Given the description of an element on the screen output the (x, y) to click on. 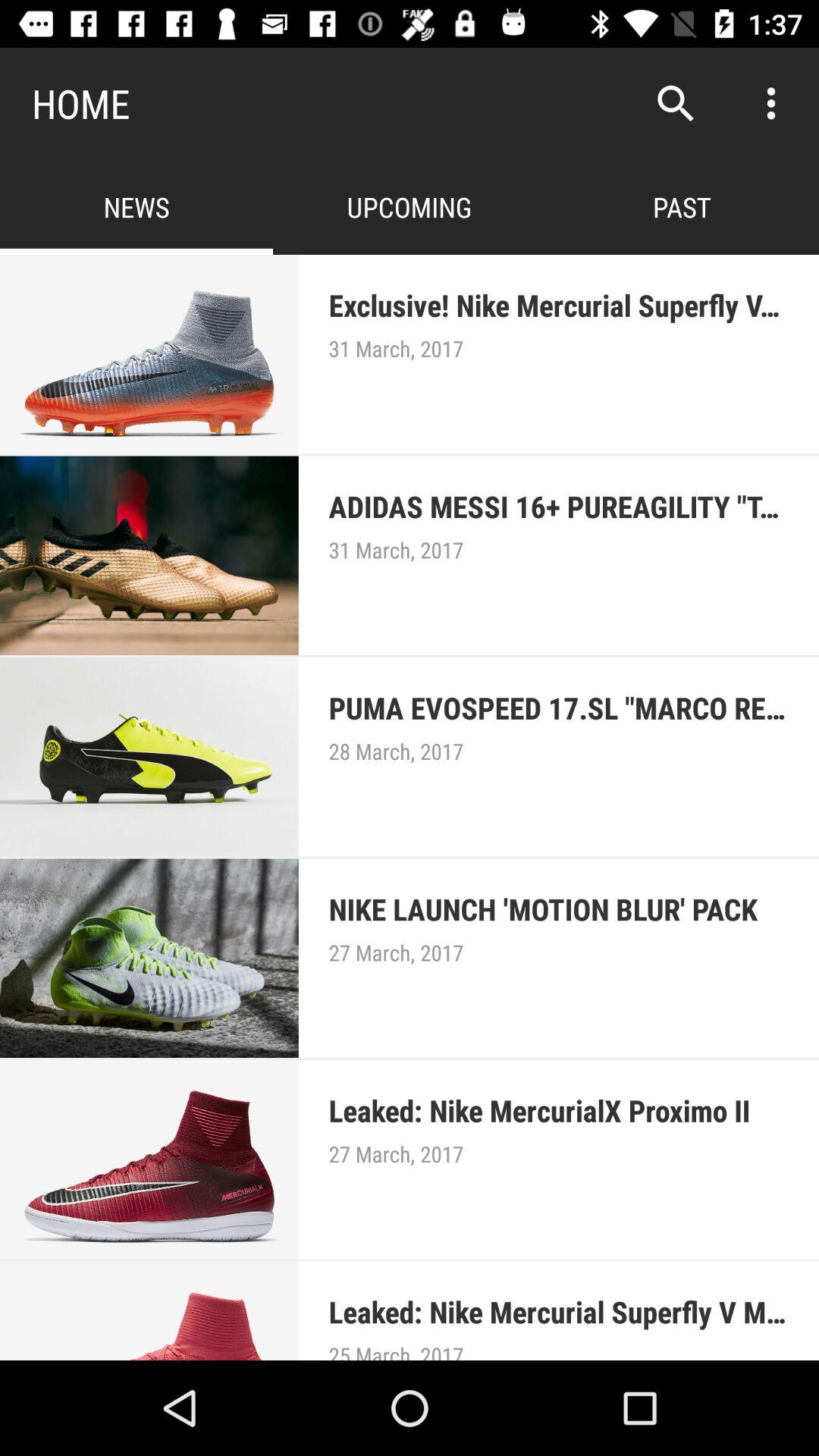
click the icon to the right of the home (675, 103)
